Given the description of an element on the screen output the (x, y) to click on. 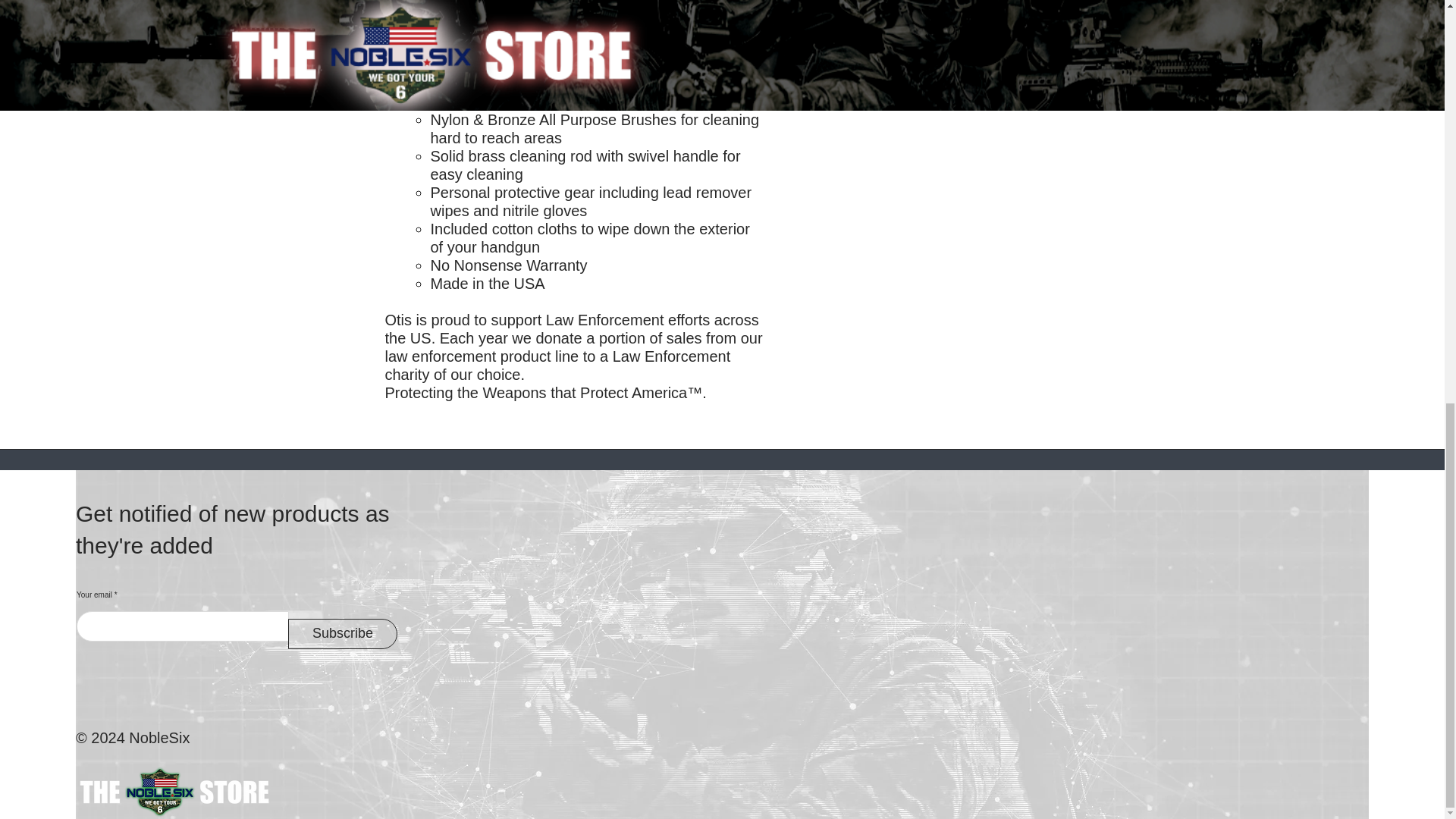
Subscribe (342, 634)
